Given the description of an element on the screen output the (x, y) to click on. 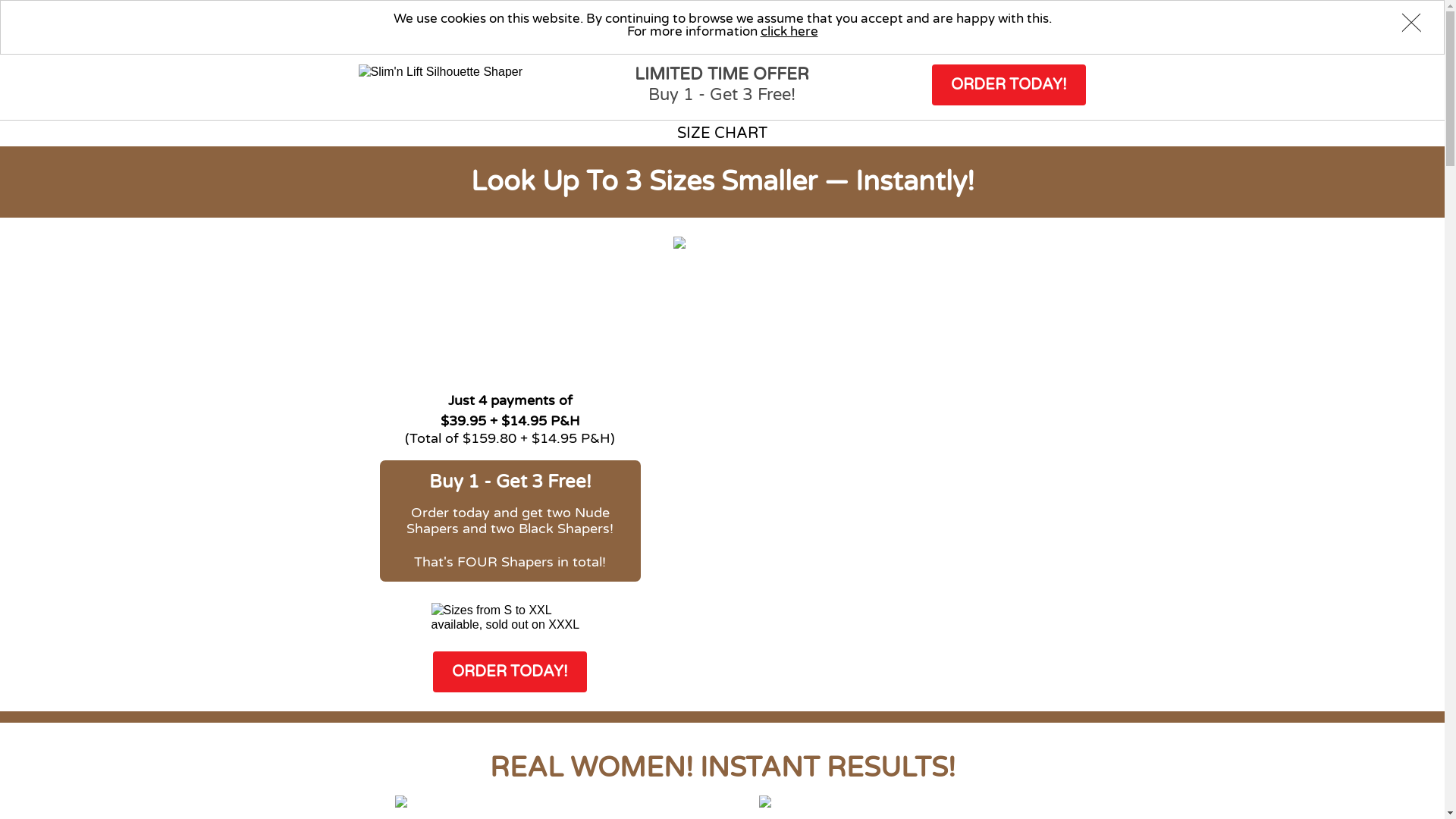
click here Element type: text (788, 31)
ORDER TODAY! Element type: text (509, 671)
SIZE CHART Element type: text (722, 133)
ORDER TODAY! Element type: text (1008, 84)
Close Element type: text (1411, 27)
